Given the description of an element on the screen output the (x, y) to click on. 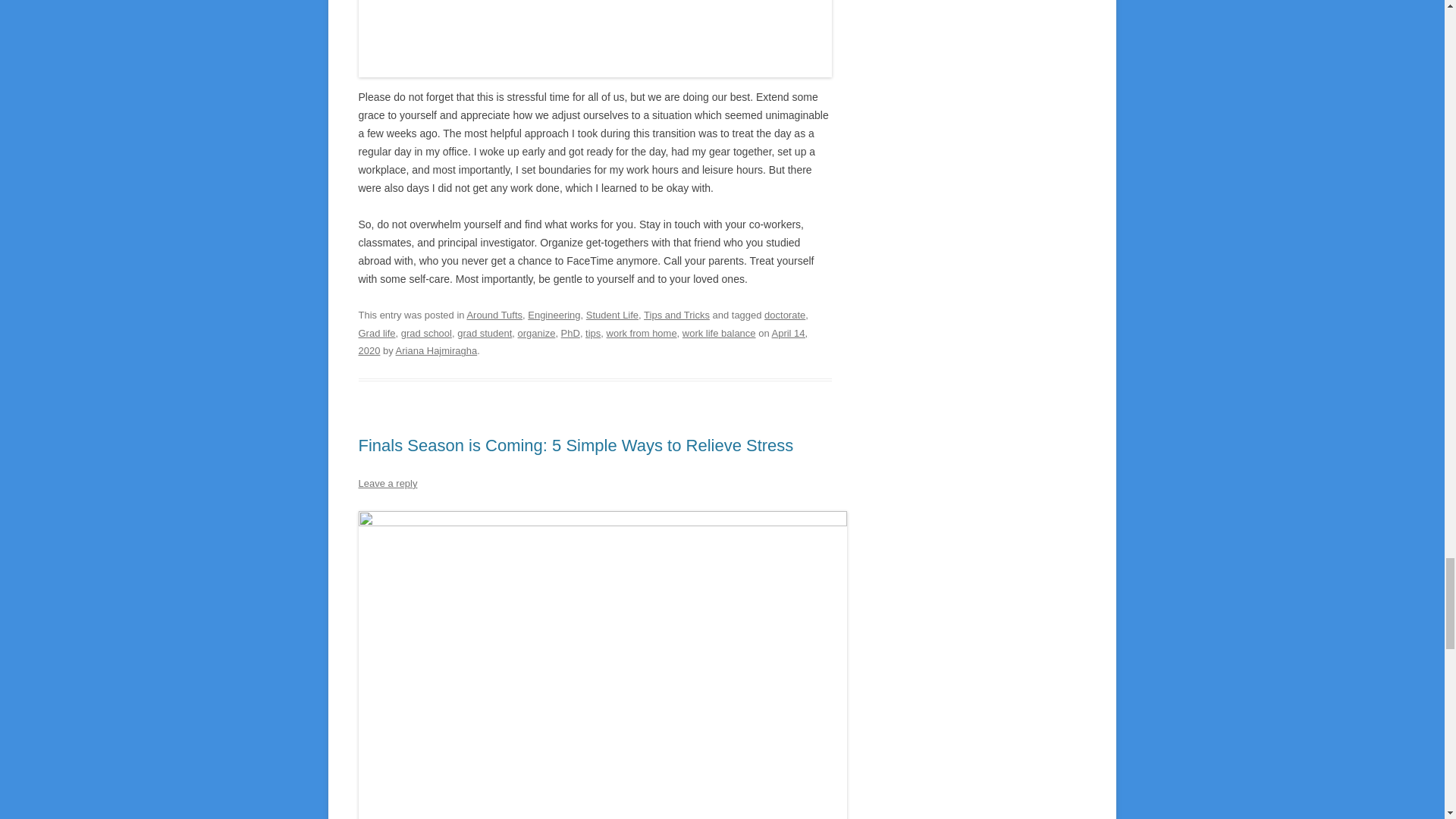
Grad life (376, 333)
View all posts by Ariana Hajmiragha (436, 350)
Tips and Tricks (676, 315)
2:23 pm (583, 342)
doctorate (784, 315)
Student Life (612, 315)
Engineering (553, 315)
Around Tufts (493, 315)
